Given the description of an element on the screen output the (x, y) to click on. 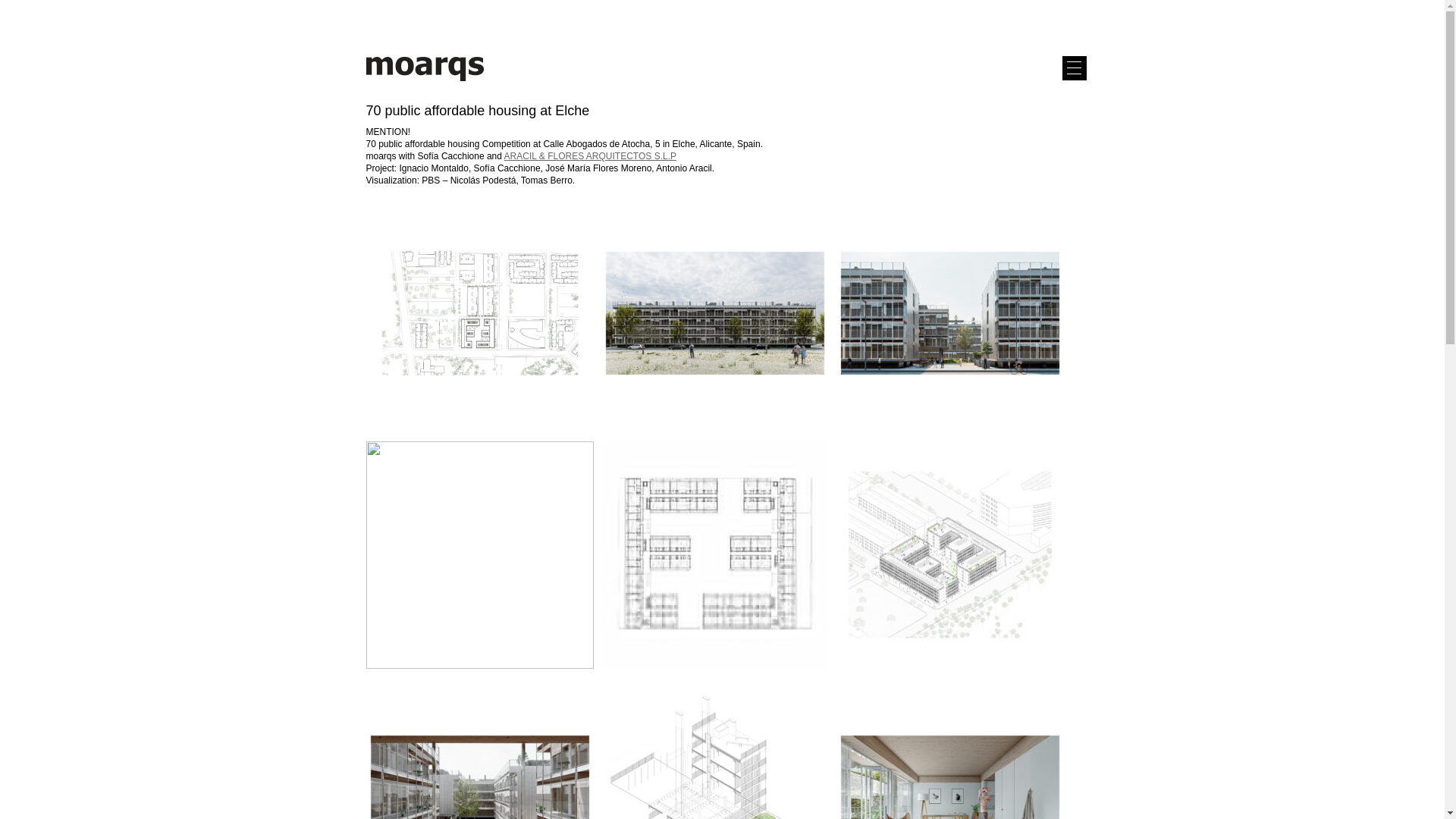
moarqs-elche-007 (478, 751)
moarqs-elche-011 (949, 313)
Model (714, 751)
moarqs-elche-006 (949, 751)
moarqs-elche-014 (714, 313)
Model (949, 555)
Return to the homepage (424, 81)
moarqs-elche-005 (478, 555)
